Given the description of an element on the screen output the (x, y) to click on. 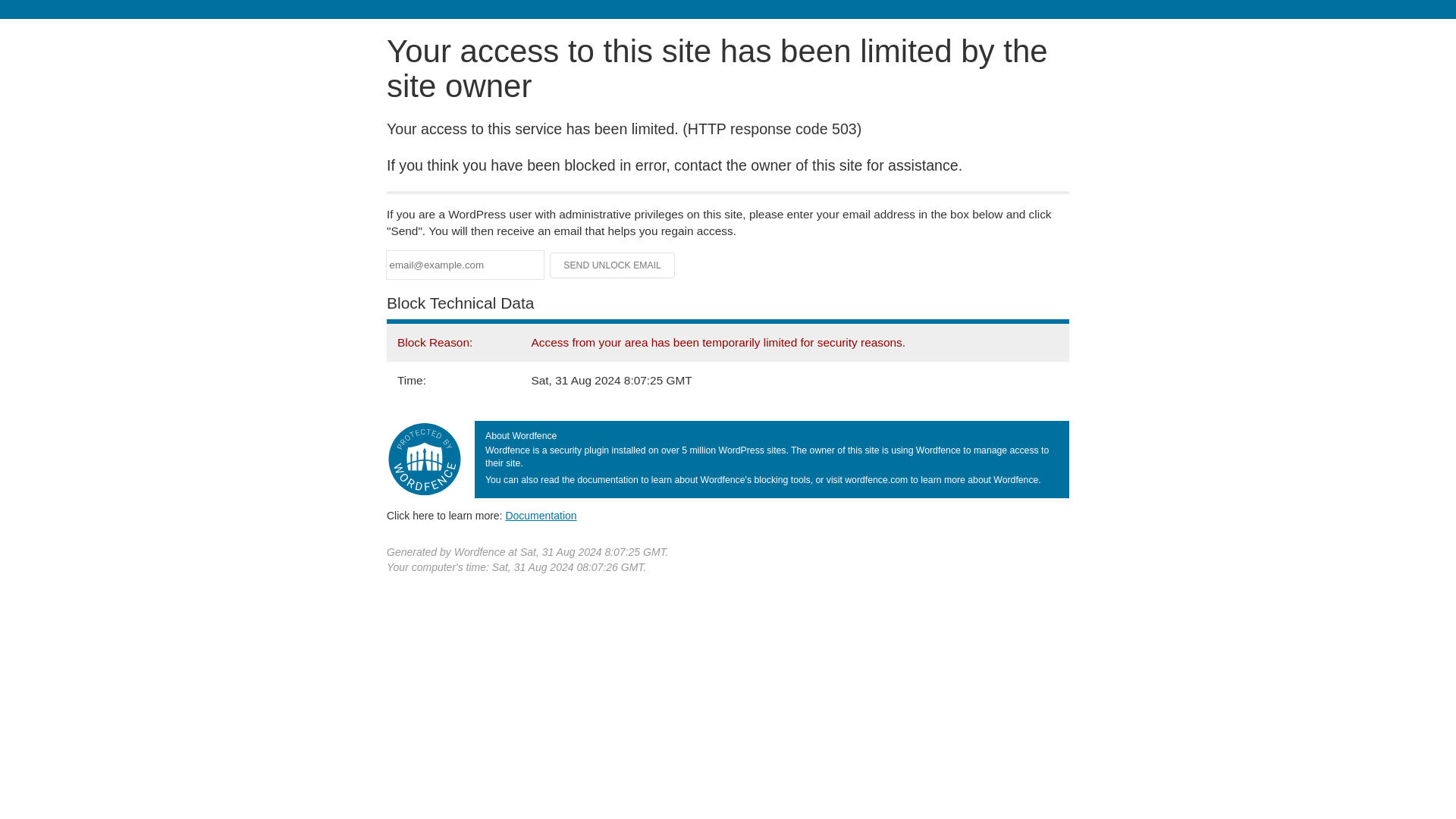
Documentation (540, 515)
Send Unlock Email (612, 265)
Send Unlock Email (612, 265)
